Given the description of an element on the screen output the (x, y) to click on. 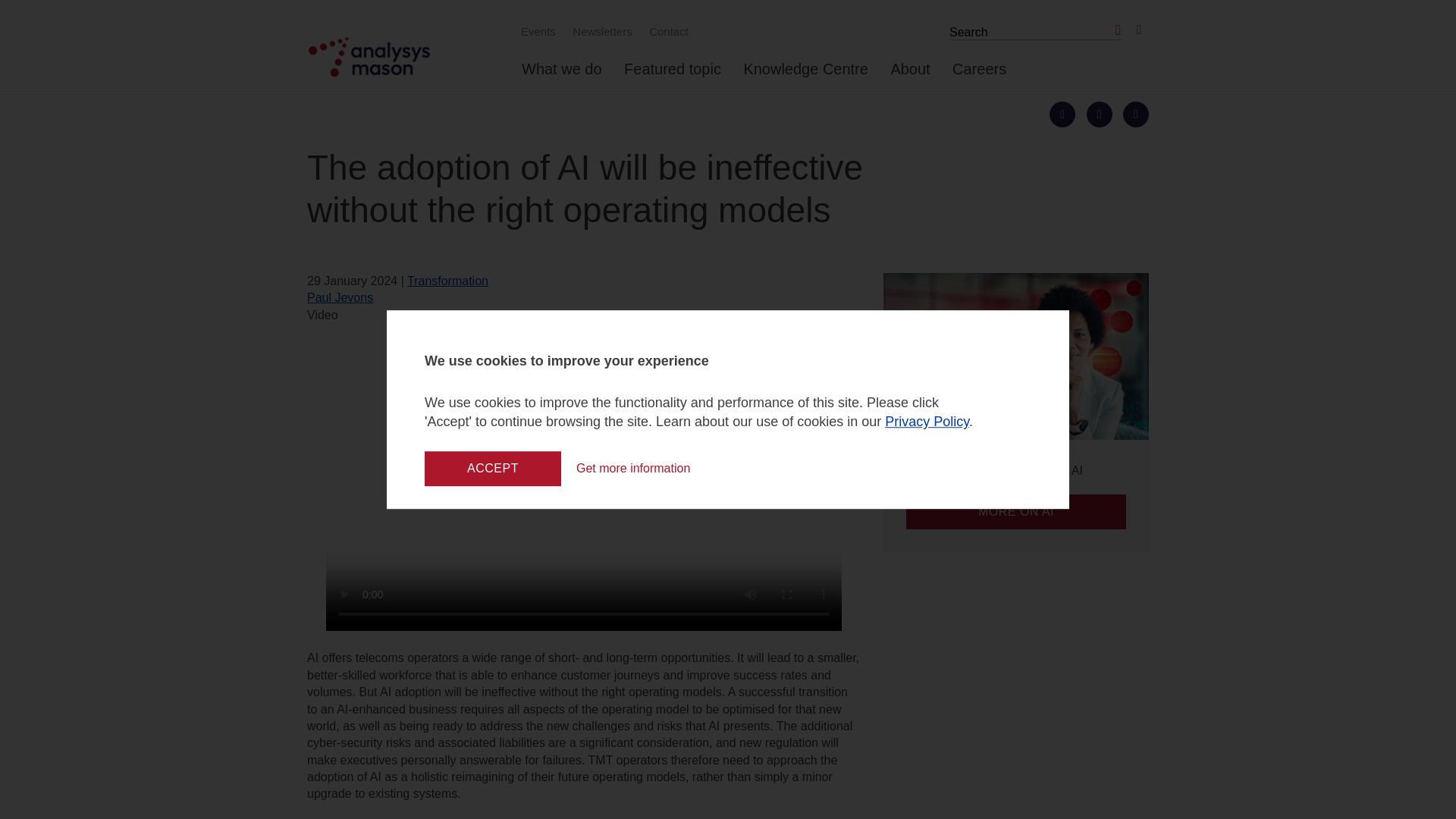
Privacy Policy (927, 421)
Knowledge Centre (805, 75)
Events (536, 31)
Featured topic (672, 75)
About (909, 75)
Contact (666, 31)
Careers (978, 75)
Newsletters (599, 31)
What we do (561, 75)
